Given the description of an element on the screen output the (x, y) to click on. 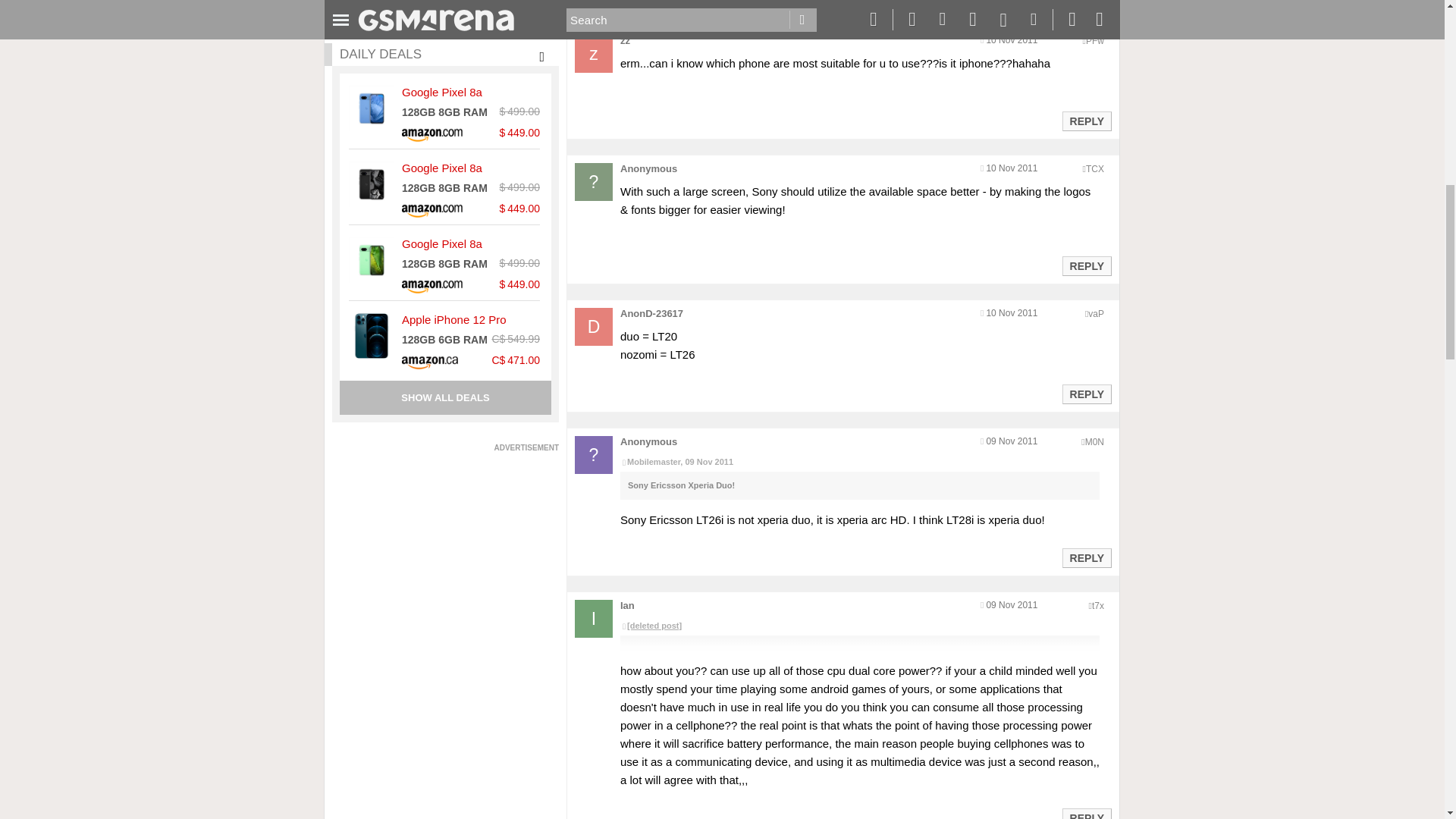
Encoded anonymized location (1094, 168)
Reply to this post (1086, 394)
Encoded anonymized location (1097, 605)
Encoded anonymized location (1094, 40)
Encoded anonymized location (1095, 313)
Reply to this post (1086, 121)
Encoded anonymized location (1093, 441)
Reply to this post (1086, 558)
Reply to this post (1086, 265)
